Given the description of an element on the screen output the (x, y) to click on. 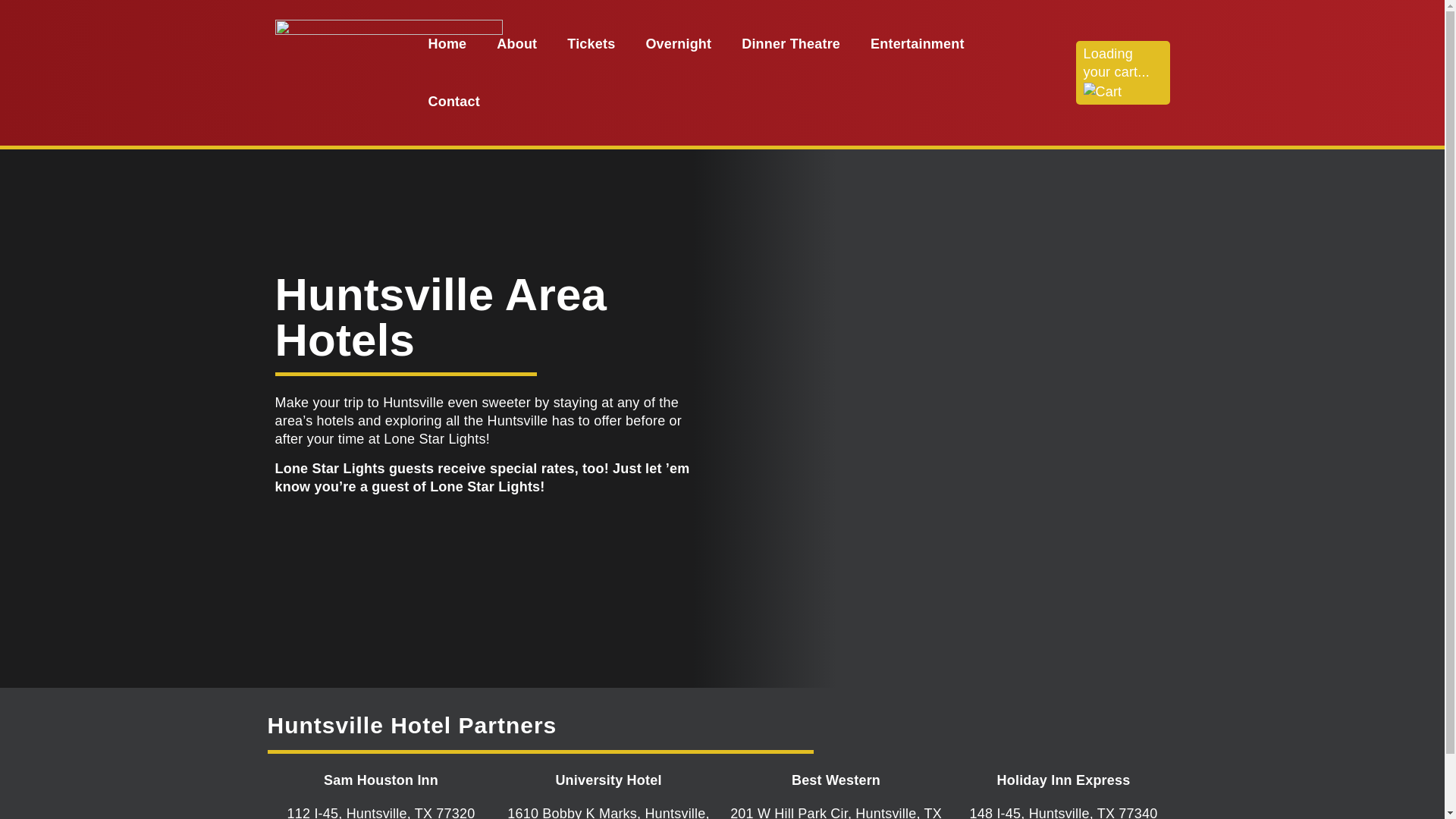
Overnight (678, 43)
Entertainment (917, 43)
About (516, 43)
Contact (453, 101)
Home (446, 43)
Dinner Theatre (791, 43)
Tickets (590, 43)
